Given the description of an element on the screen output the (x, y) to click on. 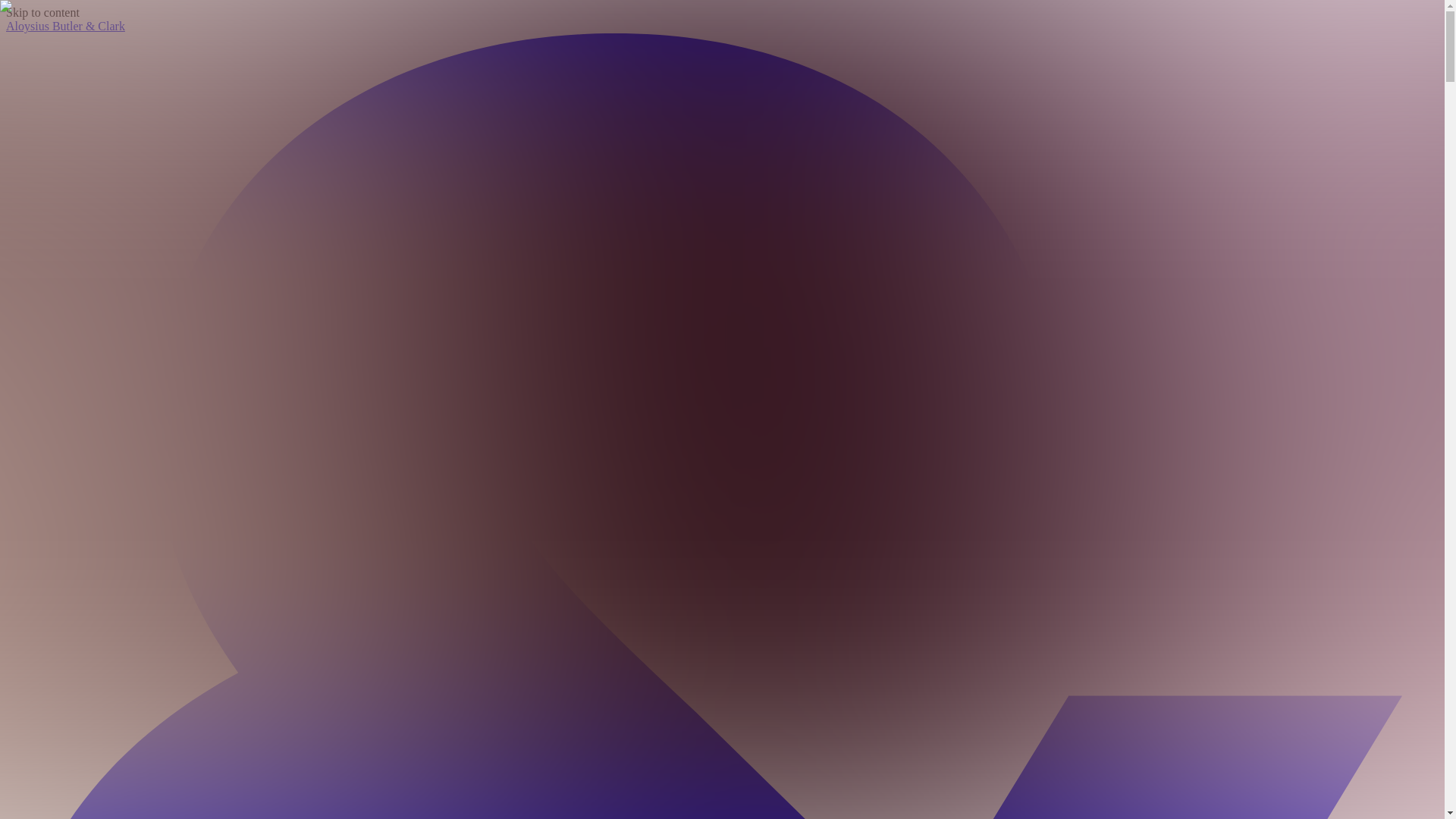
Skip to content (42, 11)
